Given the description of an element on the screen output the (x, y) to click on. 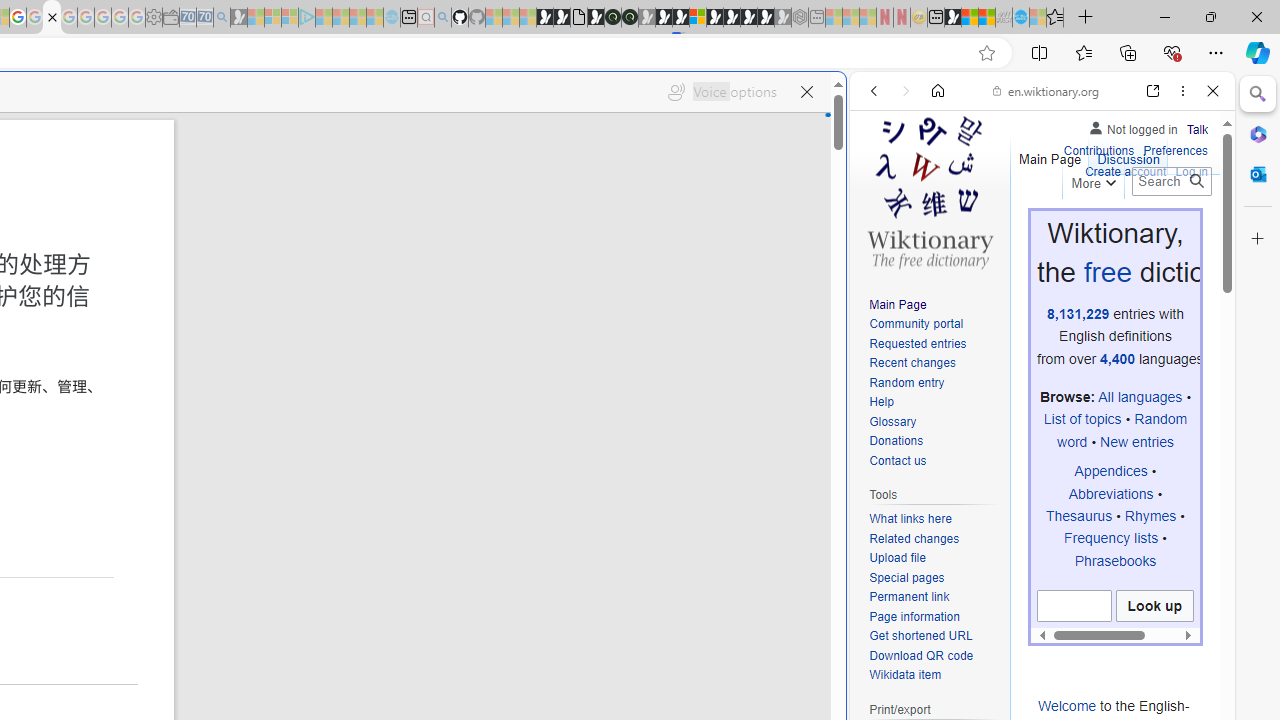
Page information (934, 616)
Preferences (1189, 228)
WEB   (882, 228)
Web scope (882, 180)
Not logged in (1132, 126)
Play Cave FRVR in your browser | Games from Microsoft Start (663, 17)
Thesaurus (1079, 515)
Community portal (934, 324)
Sign in to your account (697, 17)
Welcome (1067, 705)
Help (934, 403)
